Given the description of an element on the screen output the (x, y) to click on. 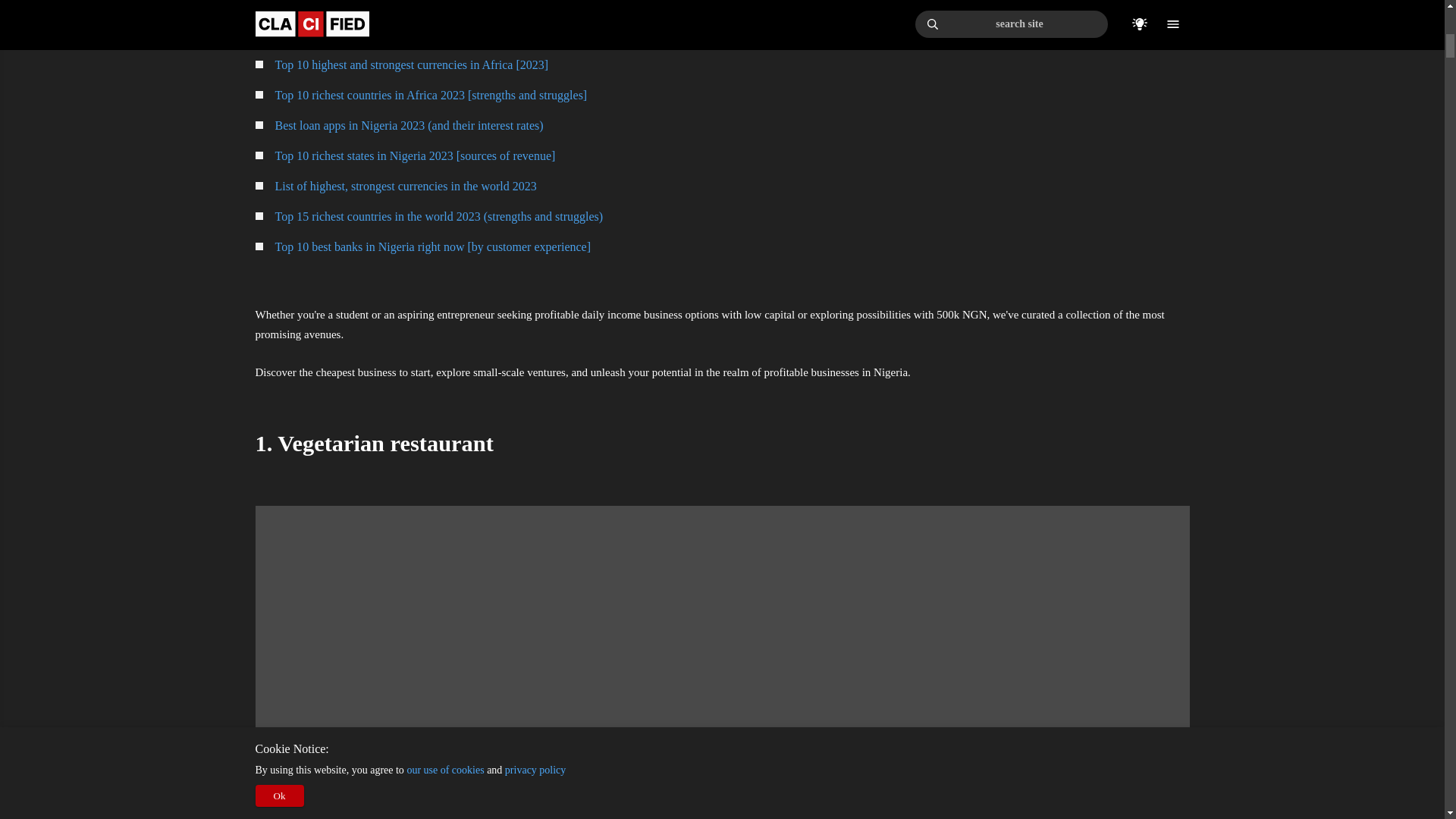
List of highest, strongest currencies in the world 2023 (732, 186)
16 guaranteed ways to make money online in Nigeria 2023 (732, 34)
